Given the description of an element on the screen output the (x, y) to click on. 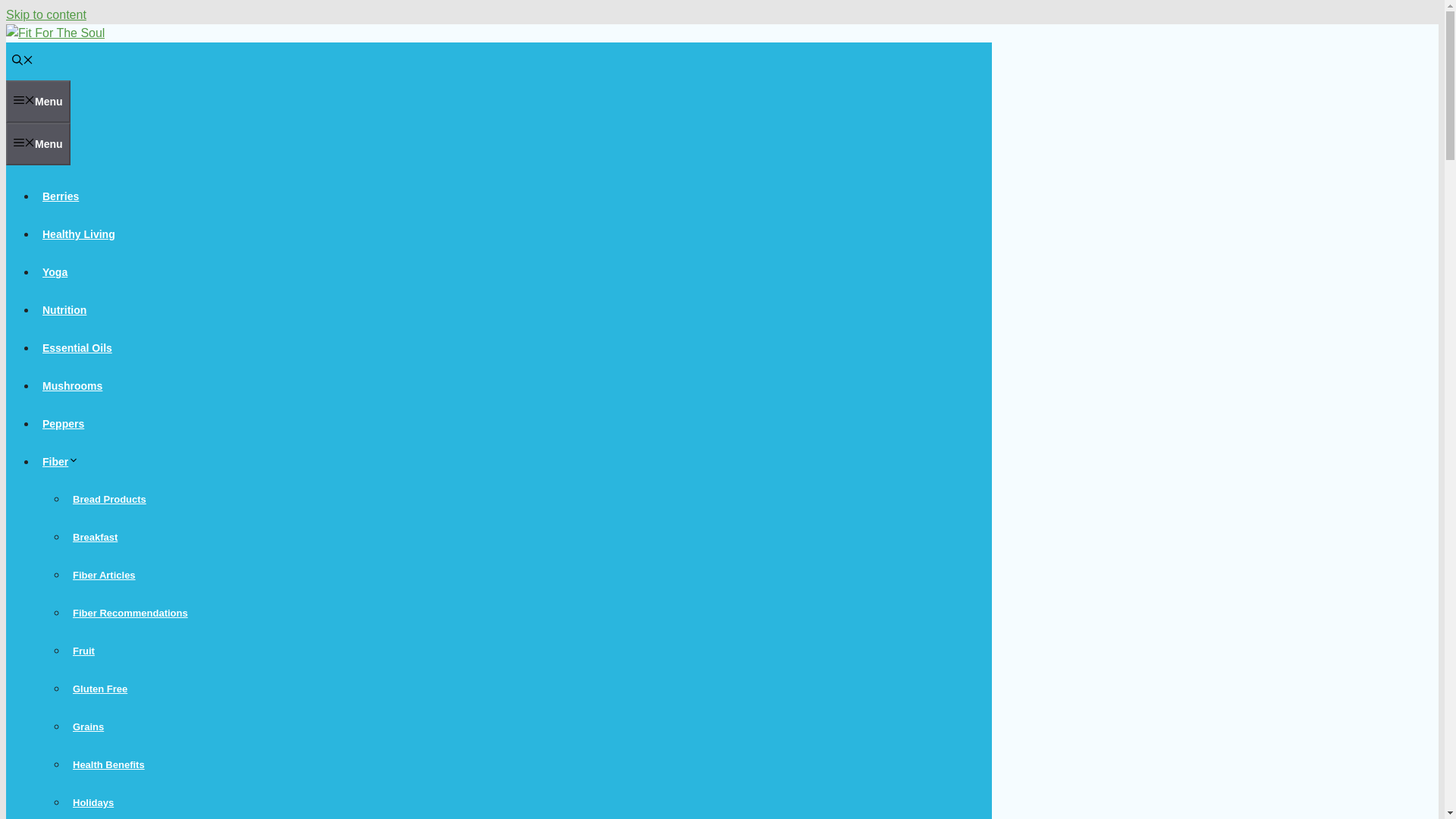
Mushrooms (71, 386)
Skip to content (45, 14)
Fiber Recommendations (129, 612)
Fruit (83, 651)
Grains (88, 726)
Berries (60, 196)
Fiber Articles (103, 574)
Peppers (63, 423)
Breakfast (94, 537)
Bread Products (109, 499)
Essential Oils (76, 347)
Fiber (63, 461)
Skip to content (45, 14)
Yoga (55, 272)
Gluten Free (99, 688)
